Given the description of an element on the screen output the (x, y) to click on. 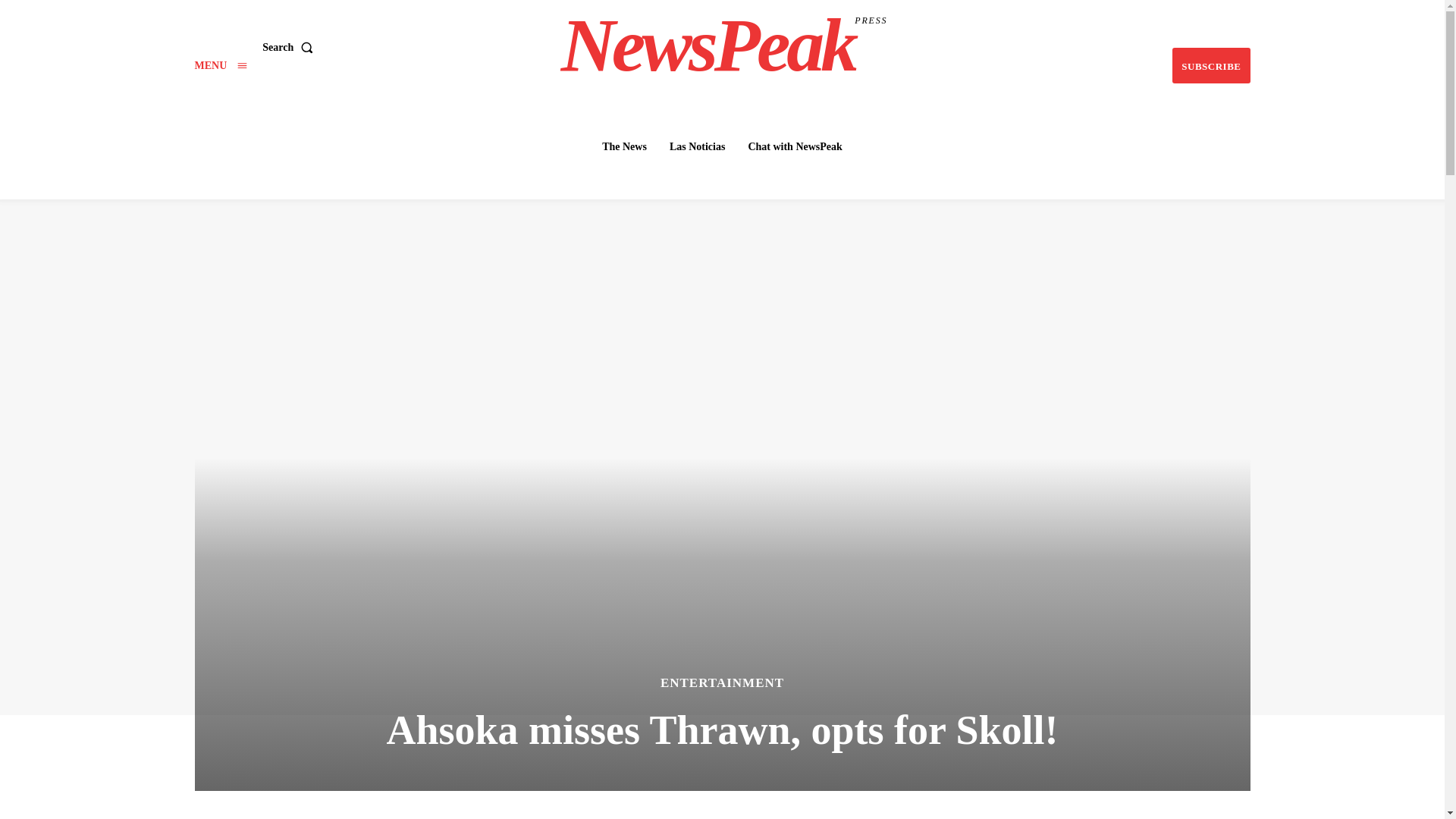
SUBSCRIBE (724, 45)
MENU (1210, 65)
Search (220, 65)
The News (290, 47)
Subscribe (623, 146)
Menu (1210, 65)
